Given the description of an element on the screen output the (x, y) to click on. 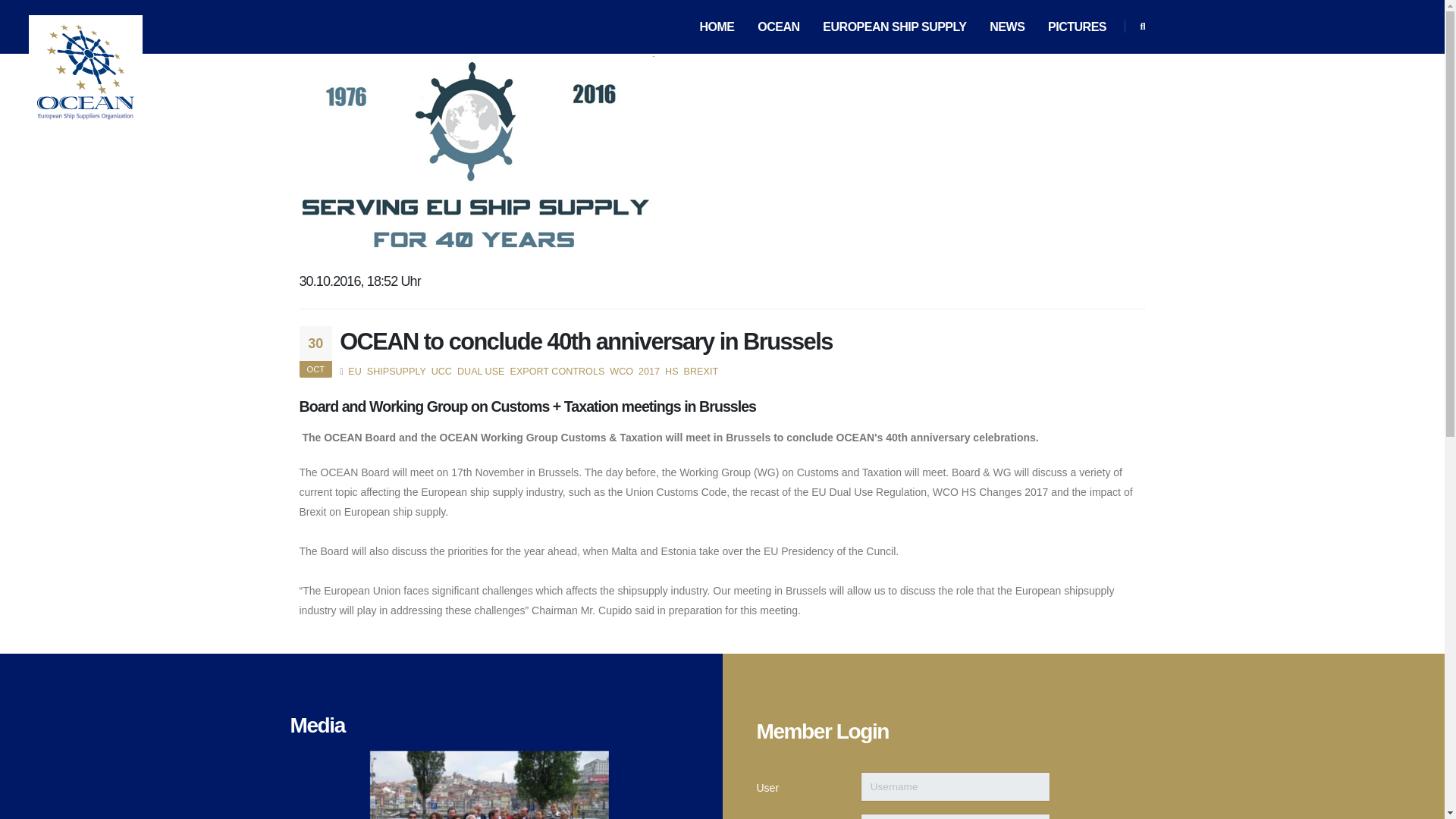
EXPORT CONTROLS (555, 371)
HS (670, 371)
HOME (716, 27)
EU (354, 371)
BREXIT (699, 371)
2017 (648, 371)
UCC (439, 371)
SHIPSUPPLY (394, 371)
PICTURES (1077, 27)
WCO (620, 371)
OCEAN (778, 27)
DUAL USE (478, 371)
EUROPEAN SHIP SUPPLY (894, 27)
NEWS (1006, 27)
